Given the description of an element on the screen output the (x, y) to click on. 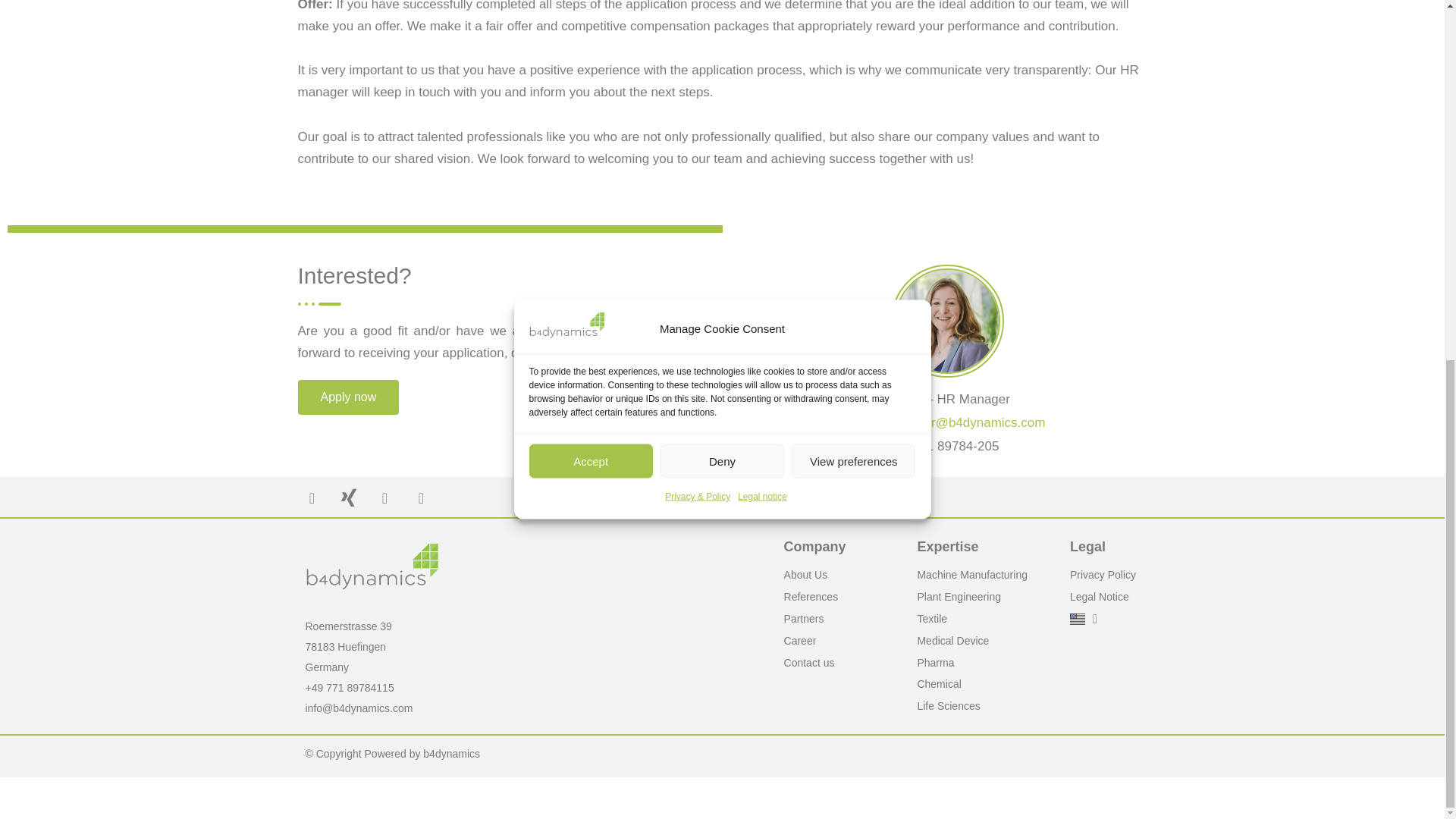
Legal notice (762, 4)
Deny (722, 128)
DSC03718-scaled-e1661780323734.jpg (947, 320)
View preferences (853, 91)
Accept (590, 167)
